Given the description of an element on the screen output the (x, y) to click on. 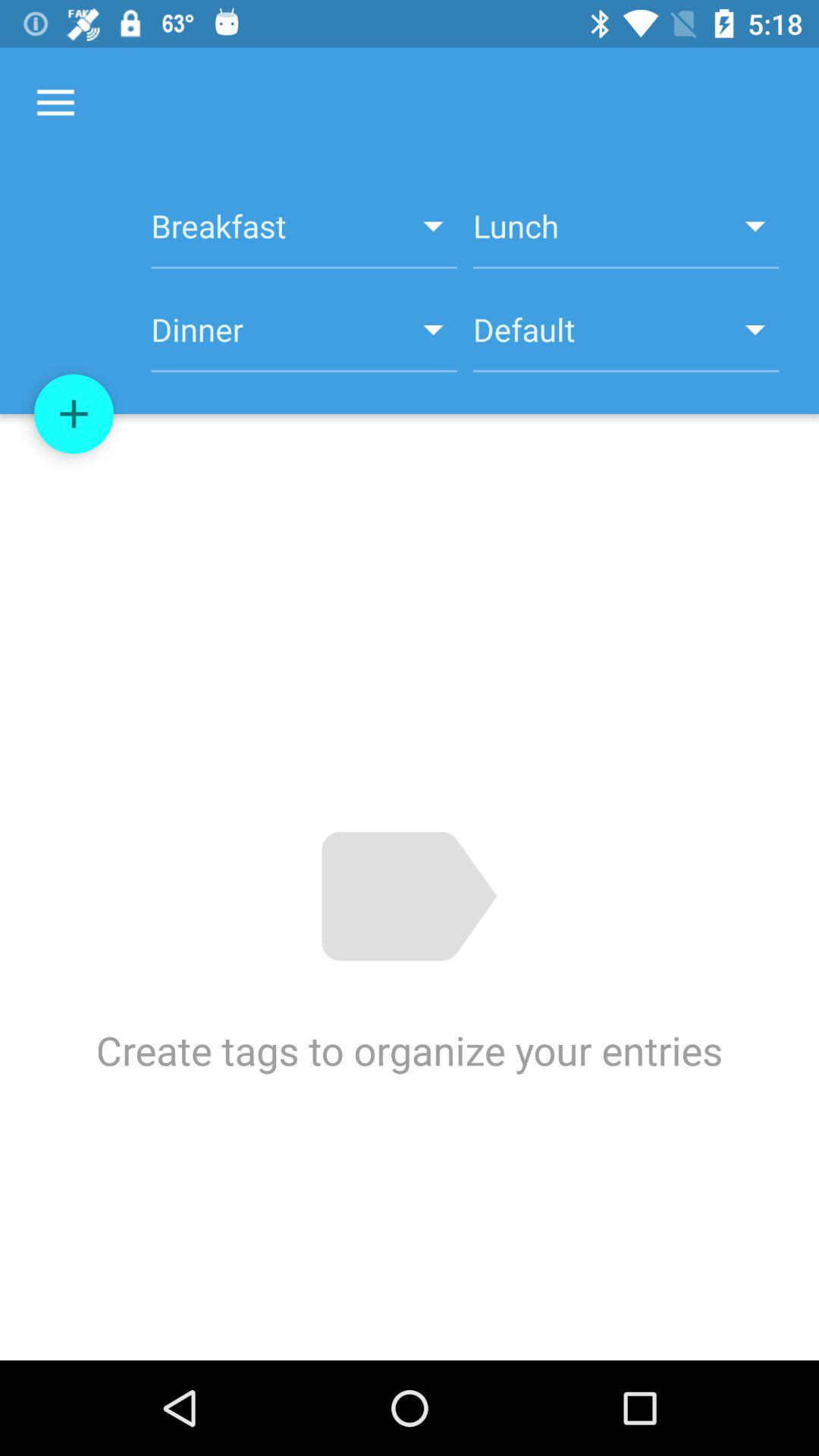
add a new blood sugar (73, 413)
